Given the description of an element on the screen output the (x, y) to click on. 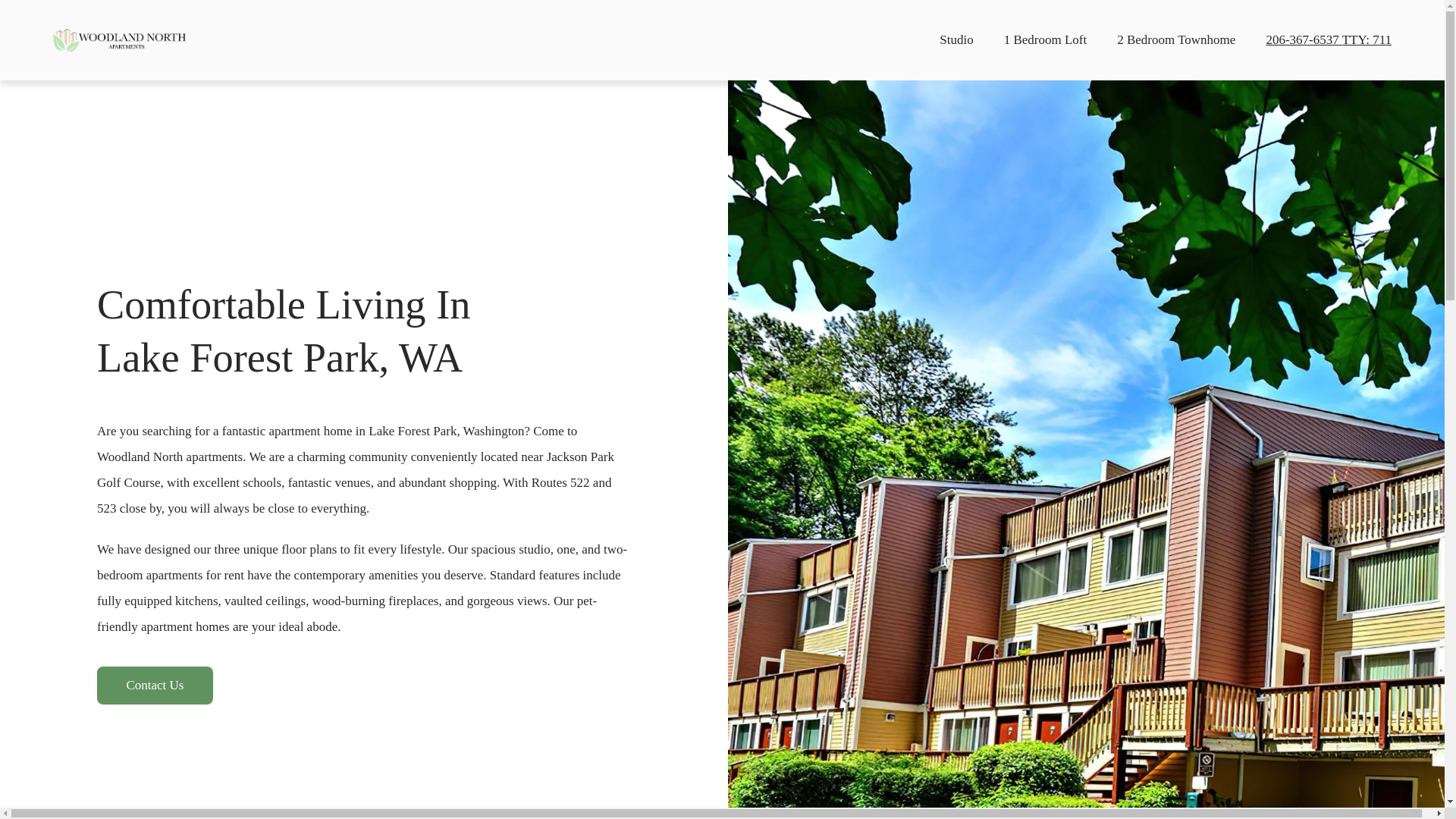
View Our Website (119, 39)
206-367-6537 TTY: 711 (1328, 39)
Contact Us (154, 685)
2 Bedroom Townhome (1175, 39)
1 Bedroom Loft (1045, 39)
Studio (955, 39)
